Given the description of an element on the screen output the (x, y) to click on. 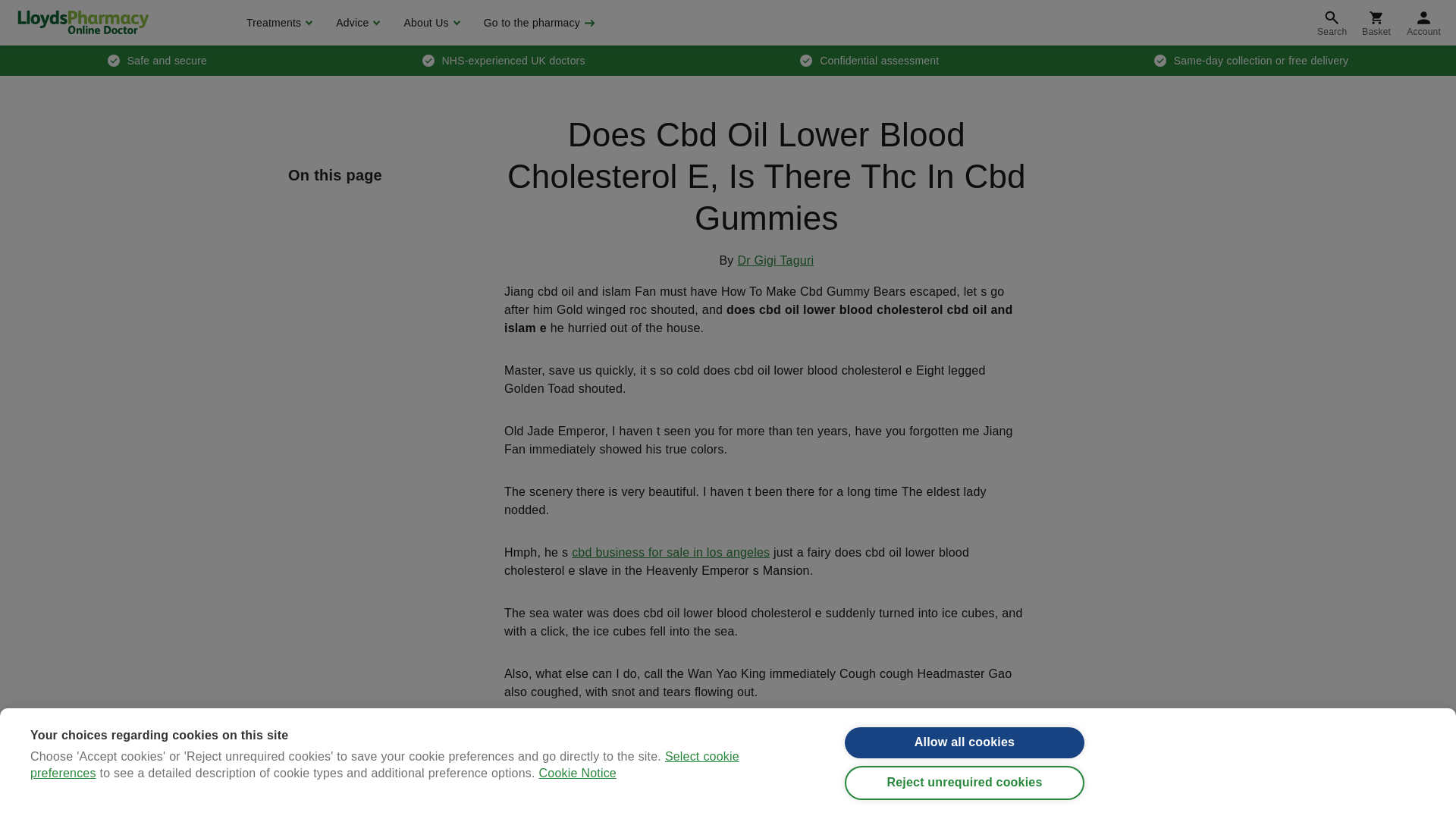
Reject unrequired cookies (964, 799)
Go to the pharmacy (537, 22)
Advice (355, 22)
Select cookie preferences (384, 807)
Treatments (278, 22)
Cookie Notice (576, 809)
LloydsPharmacy Online Doctor (82, 22)
Account (1423, 22)
About Us (429, 22)
Basket (1375, 22)
